Given the description of an element on the screen output the (x, y) to click on. 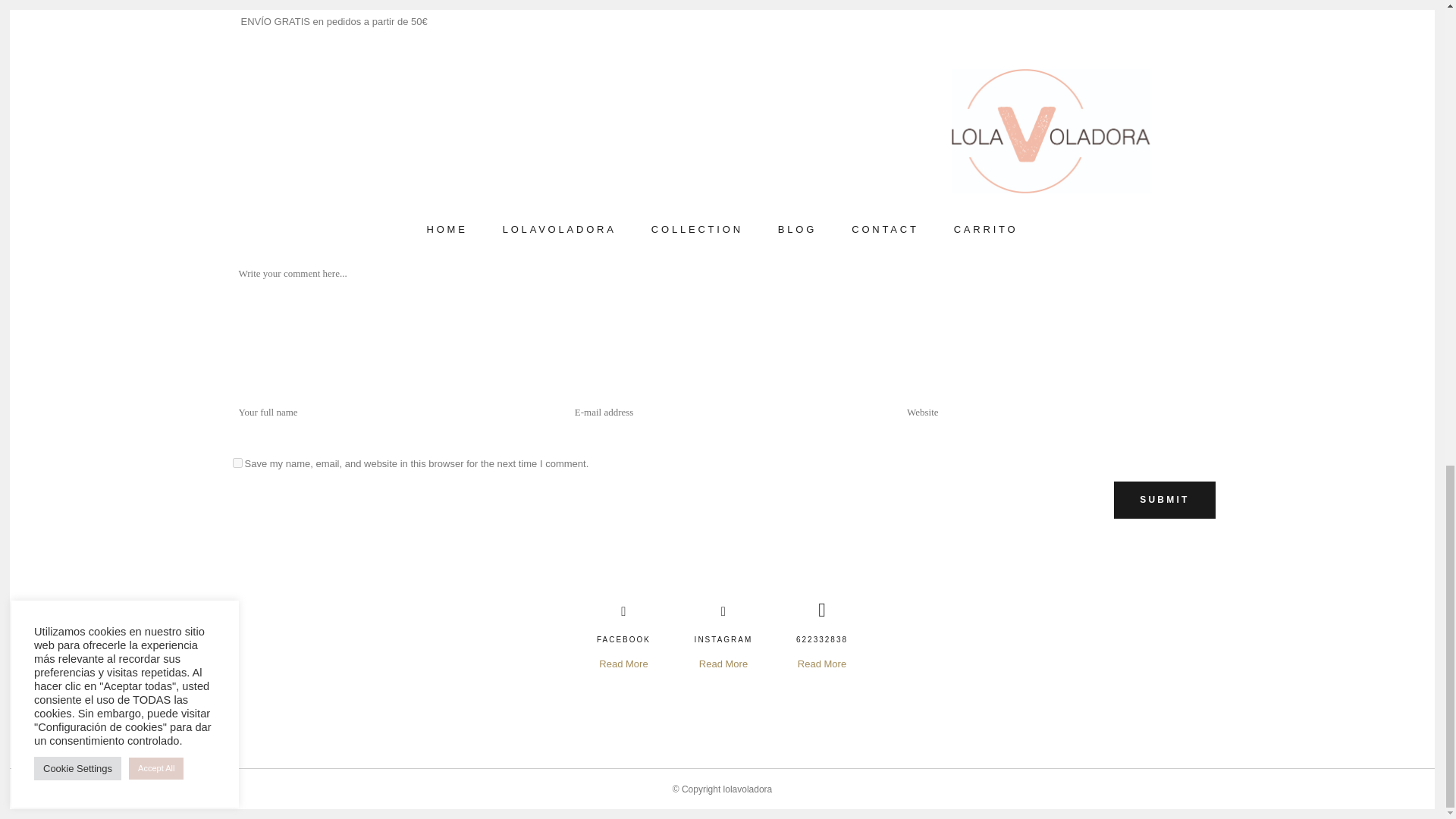
Submit (1163, 499)
lolavoladora (748, 788)
Read More (622, 664)
yes (236, 462)
Submit (1163, 499)
Read More (821, 664)
Read More (723, 664)
